Given the description of an element on the screen output the (x, y) to click on. 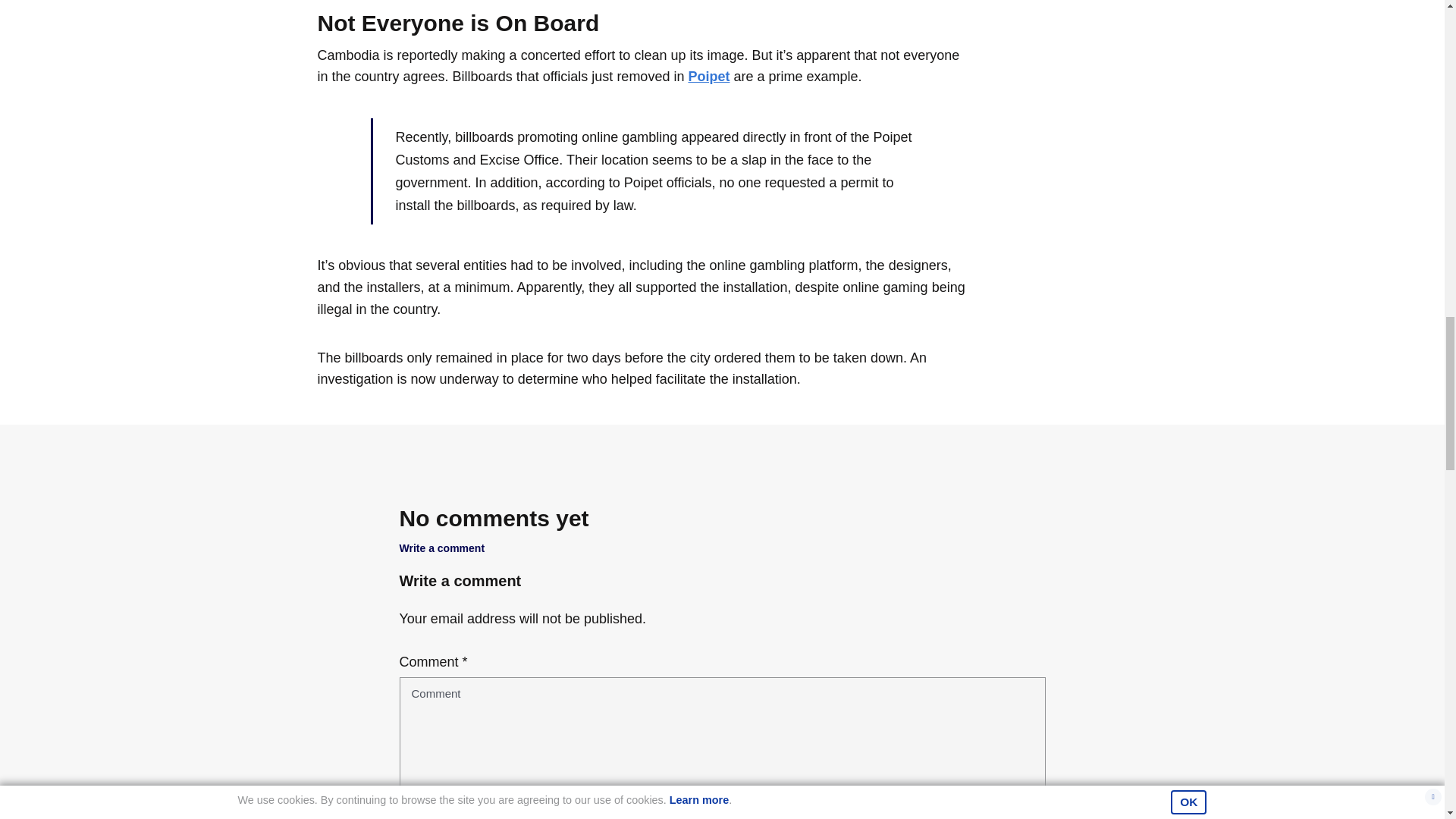
Poipet (708, 76)
